Given the description of an element on the screen output the (x, y) to click on. 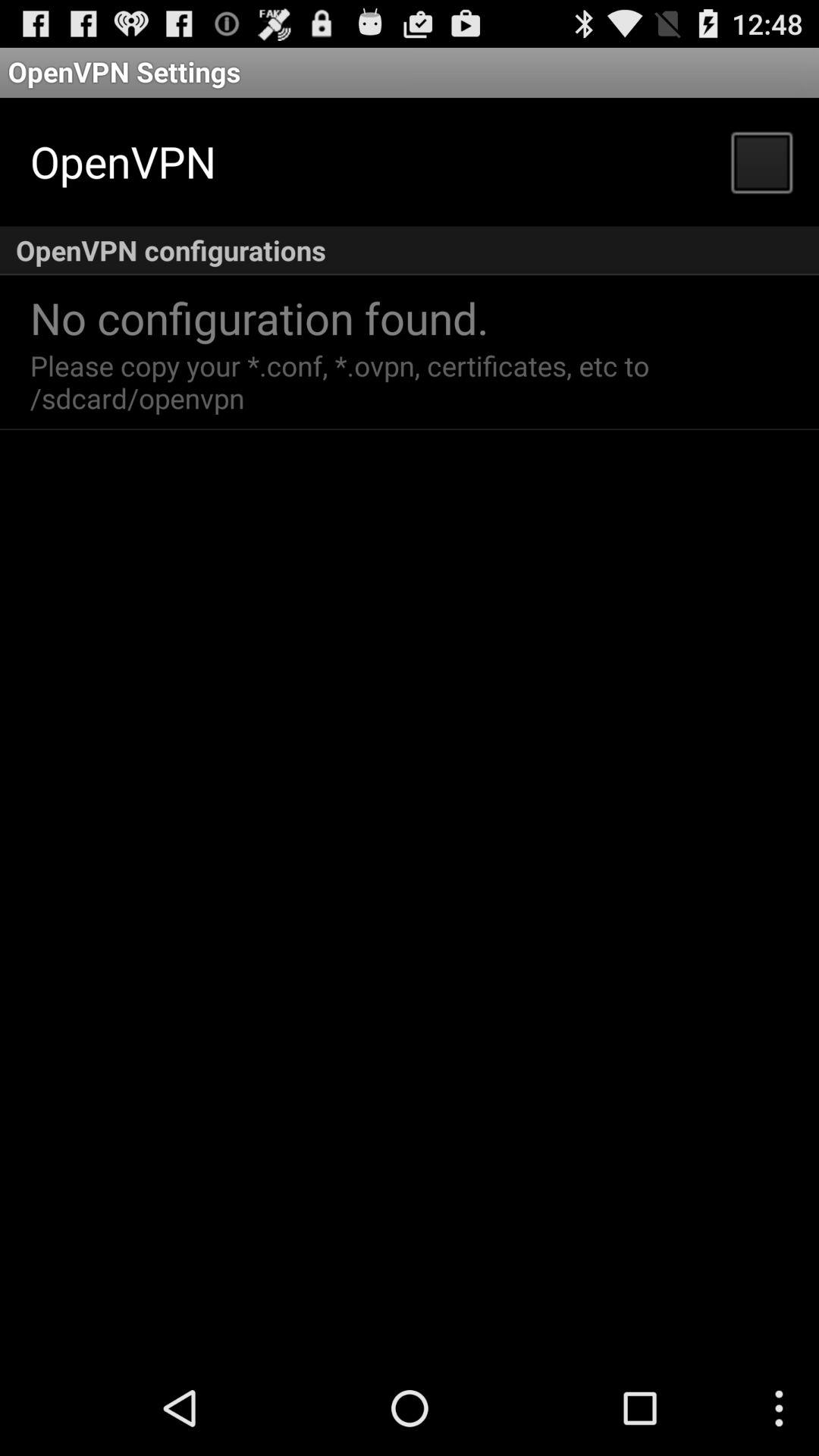
jump to the please copy your app (344, 381)
